Given the description of an element on the screen output the (x, y) to click on. 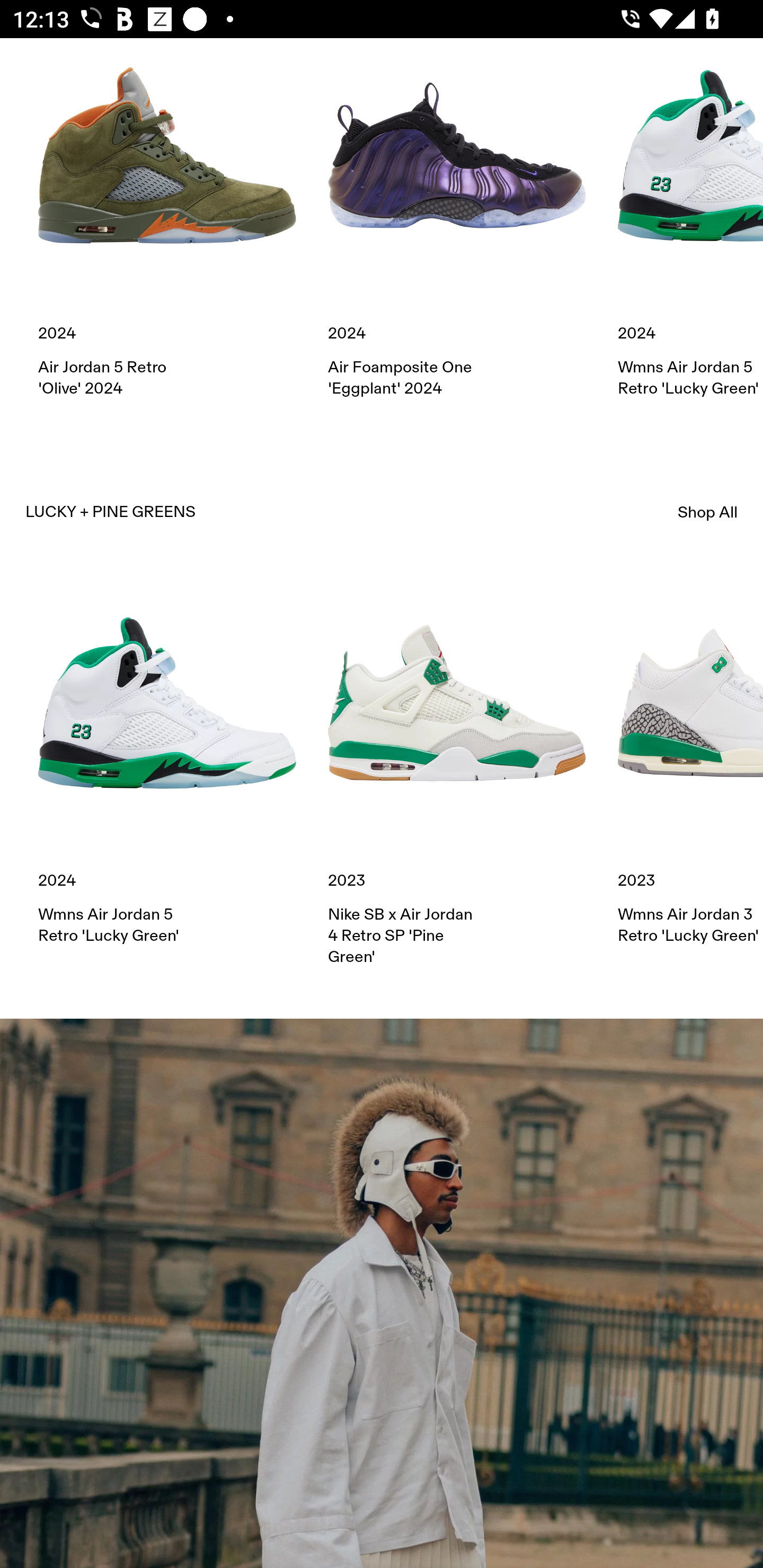
2024 Air Jordan 5 Retro 'Olive' 2024 (167, 218)
2024 Air Foamposite One 'Eggplant' 2024 (456, 218)
2024 Wmns Air Jordan 5 Retro 'Lucky Green' (690, 218)
Shop All (707, 512)
2024 Wmns Air Jordan 5 Retro 'Lucky Green' (167, 760)
2023 Nike SB x Air Jordan 4 Retro SP 'Pine Green' (456, 770)
2023 Wmns Air Jordan 3 Retro 'Lucky Green' (690, 760)
